Given the description of an element on the screen output the (x, y) to click on. 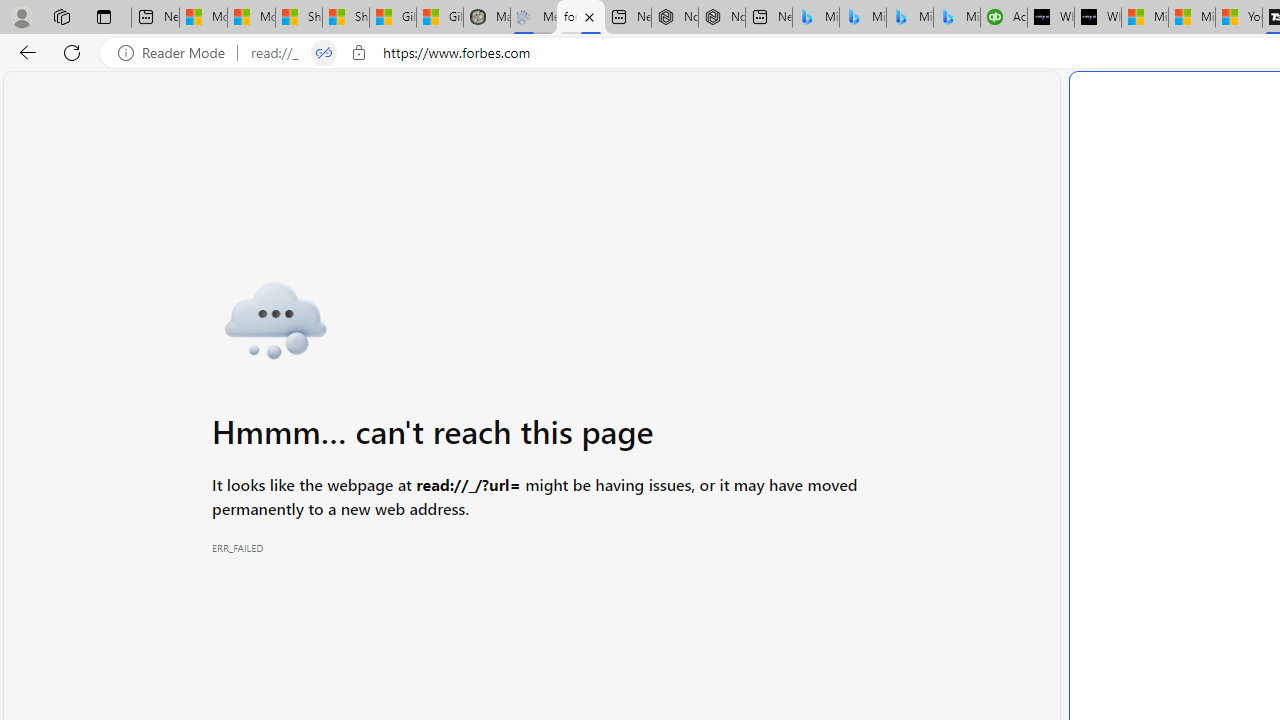
Microsoft Bing Travel - Shangri-La Hotel Bangkok (957, 17)
Tabs in split screen (323, 53)
Manatee Mortality Statistics | FWC (486, 17)
What's the best AI voice generator? - voice.ai (1098, 17)
Reader Mode (177, 53)
Accounting Software for Accountants, CPAs and Bookkeepers (1003, 17)
Nordace - #1 Japanese Best-Seller - Siena Smart Backpack (721, 17)
